Given the description of an element on the screen output the (x, y) to click on. 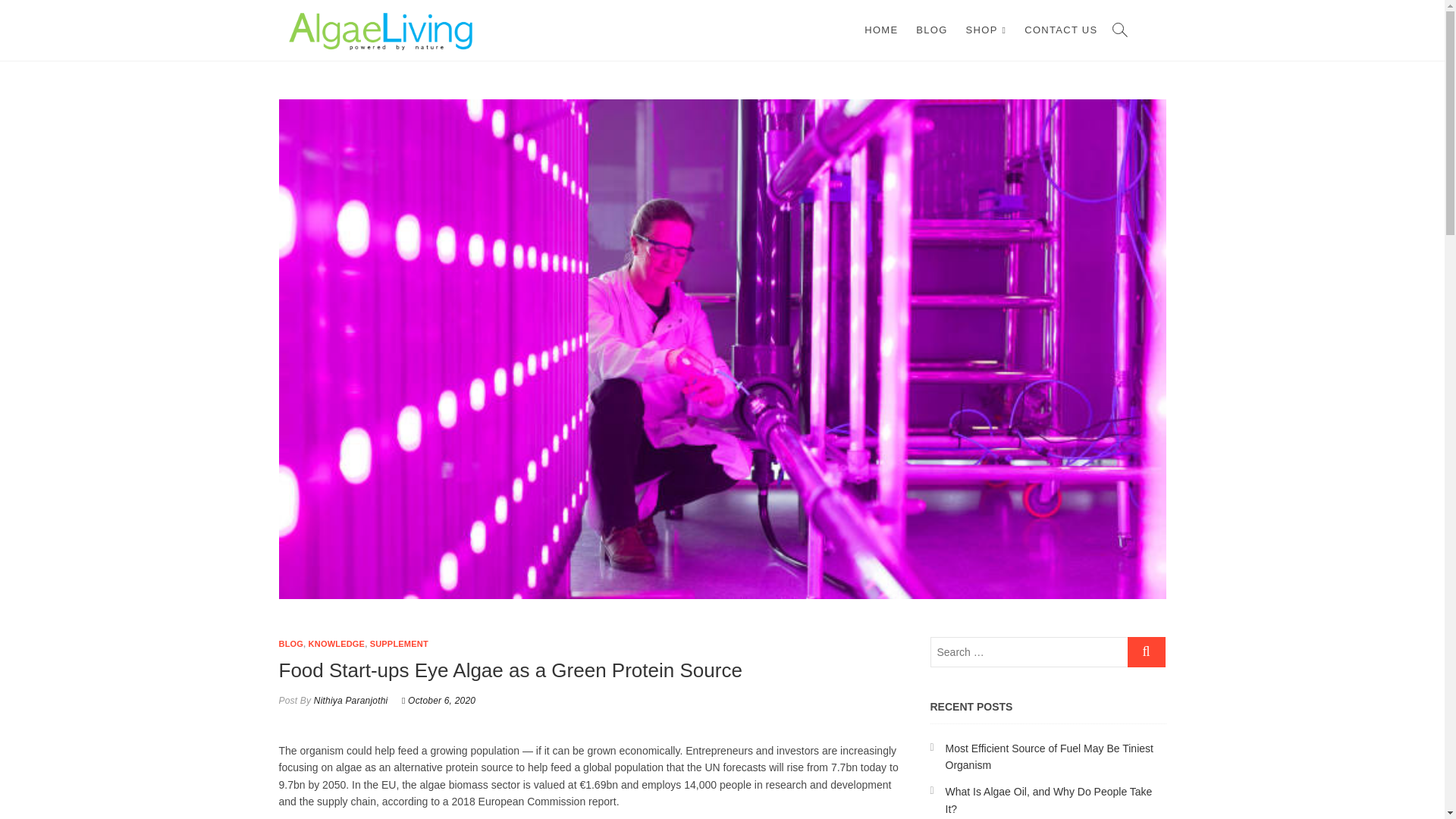
SHOP (986, 30)
What Is Algae Oil, and Why Do People Take It? (1047, 799)
SUPPLEMENT (398, 643)
Most Efficient Source of Fuel May Be Tiniest Organism (1048, 756)
Nithiya Paranjothi (349, 700)
Nithiya Paranjothi (349, 700)
CONTACT US (1060, 30)
11:53 am (438, 700)
Algae Living (562, 25)
KNOWLEDGE (336, 643)
